Given the description of an element on the screen output the (x, y) to click on. 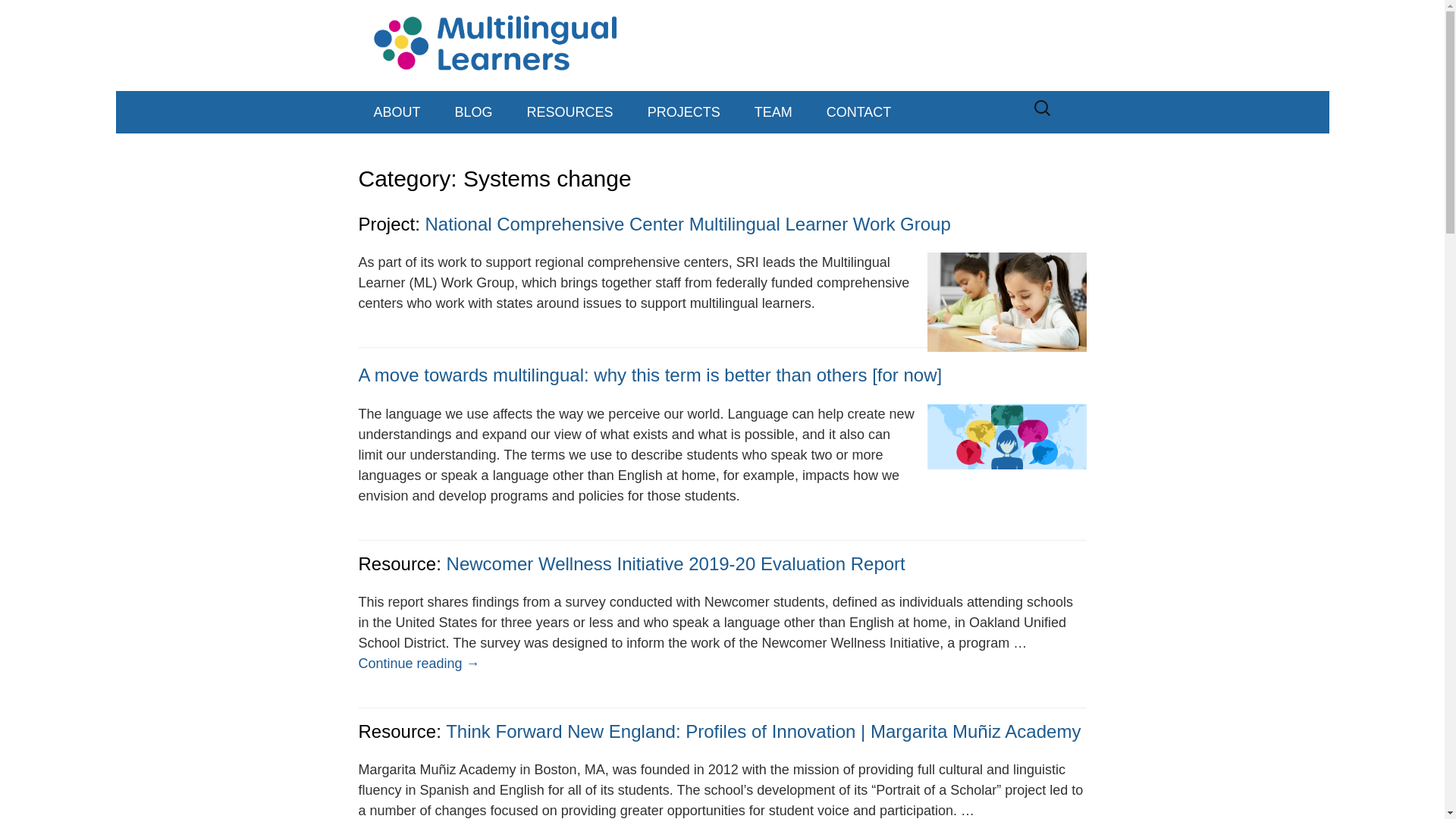
Search (18, 17)
RESOURCES (570, 111)
PROJECTS (683, 111)
Newcomer Wellness Initiative 2019-20 Evaluation Report (675, 563)
CONTACT (858, 111)
Multilingual Learners (722, 45)
BLOG (473, 111)
ABOUT (396, 111)
TEAM (773, 111)
